Given the description of an element on the screen output the (x, y) to click on. 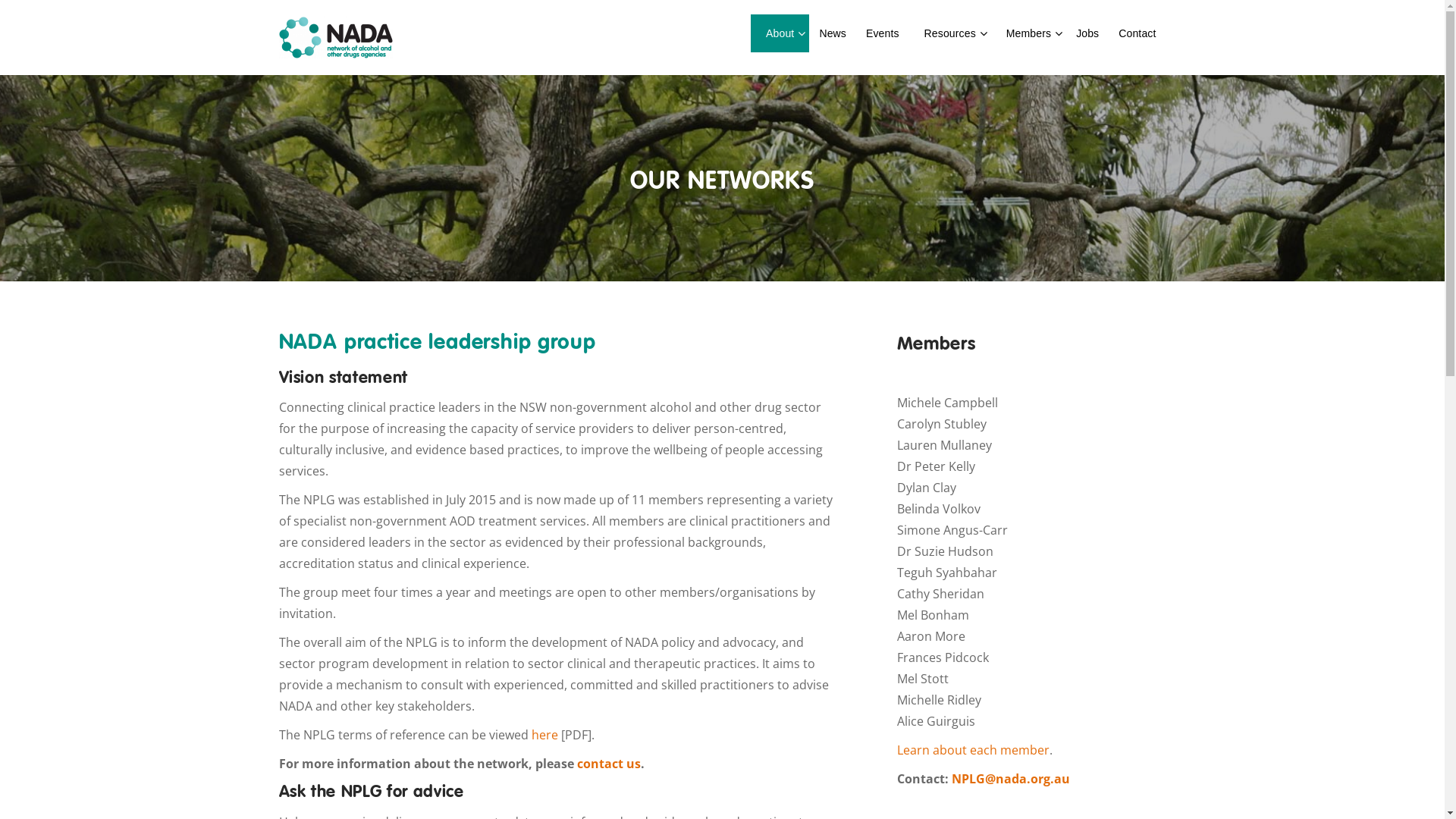
CharityPro Element type: hover (335, 37)
Learn about each member Element type: text (972, 749)
contact us Element type: text (608, 763)
News Element type: text (832, 33)
Resources Element type: text (950, 33)
NPLG@nada.org.au  Element type: text (1011, 778)
Contact Element type: text (1136, 33)
Events Element type: text (882, 33)
Jobs Element type: text (1087, 33)
here Element type: text (545, 734)
Members Element type: text (1028, 33)
About Element type: text (779, 33)
